Given the description of an element on the screen output the (x, y) to click on. 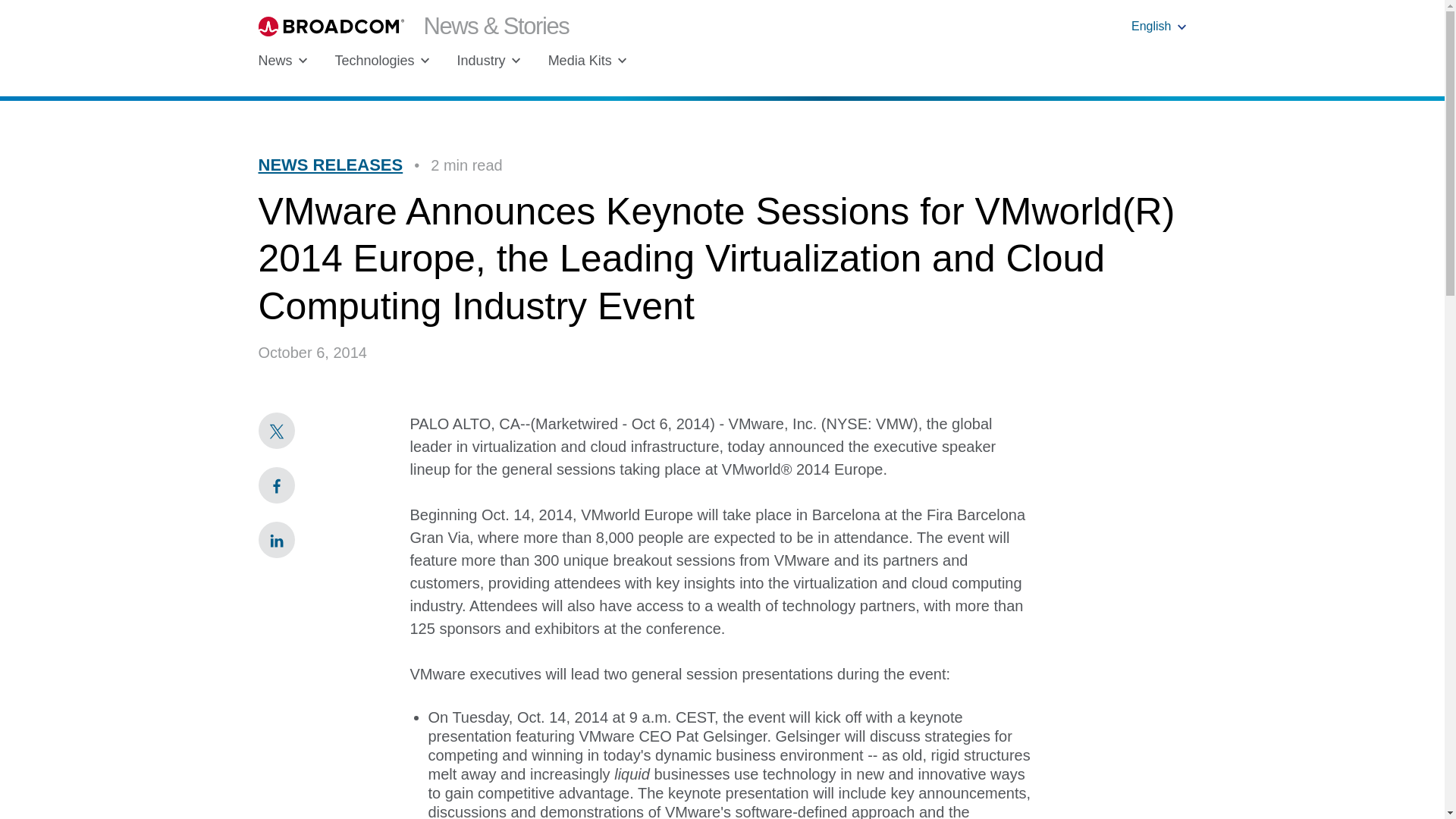
Chevron Down Icon (302, 60)
Chevron Down Icon (1181, 27)
Open Language Settings (1158, 26)
Chevron Down Icon (622, 60)
News (282, 60)
English (1158, 26)
Media Kits (587, 60)
Technologies (381, 60)
Chevron Down Icon (424, 60)
Broadcom News and Stories (413, 26)
